Given the description of an element on the screen output the (x, y) to click on. 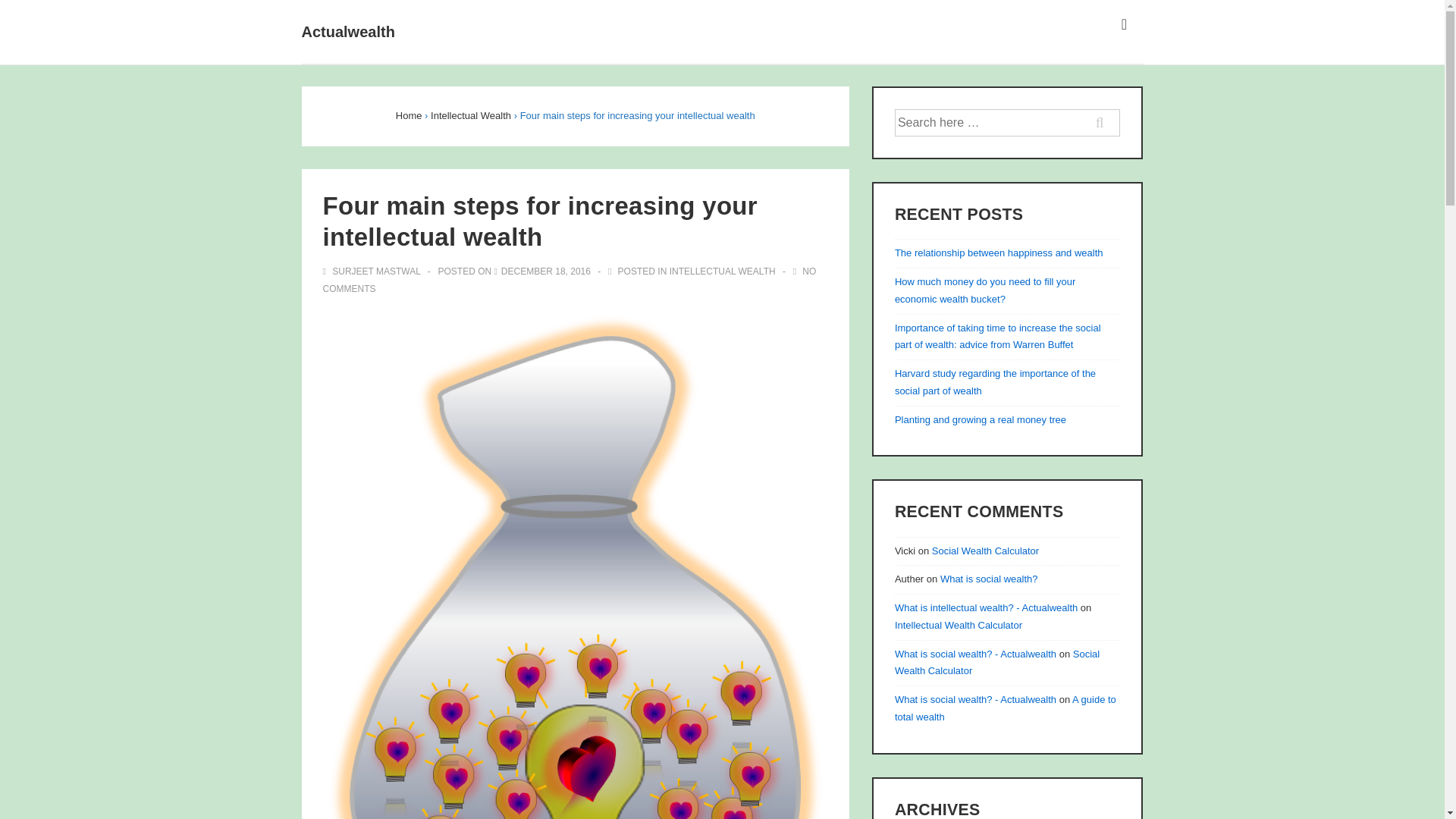
The relationship between happiness and wealth (999, 252)
Intellectual Wealth (470, 115)
Actualwealth (347, 31)
Home (409, 115)
SURJEET MASTWAL (373, 271)
NO COMMENTS (569, 280)
View all posts by Surjeet Mastwal (373, 271)
